Given the description of an element on the screen output the (x, y) to click on. 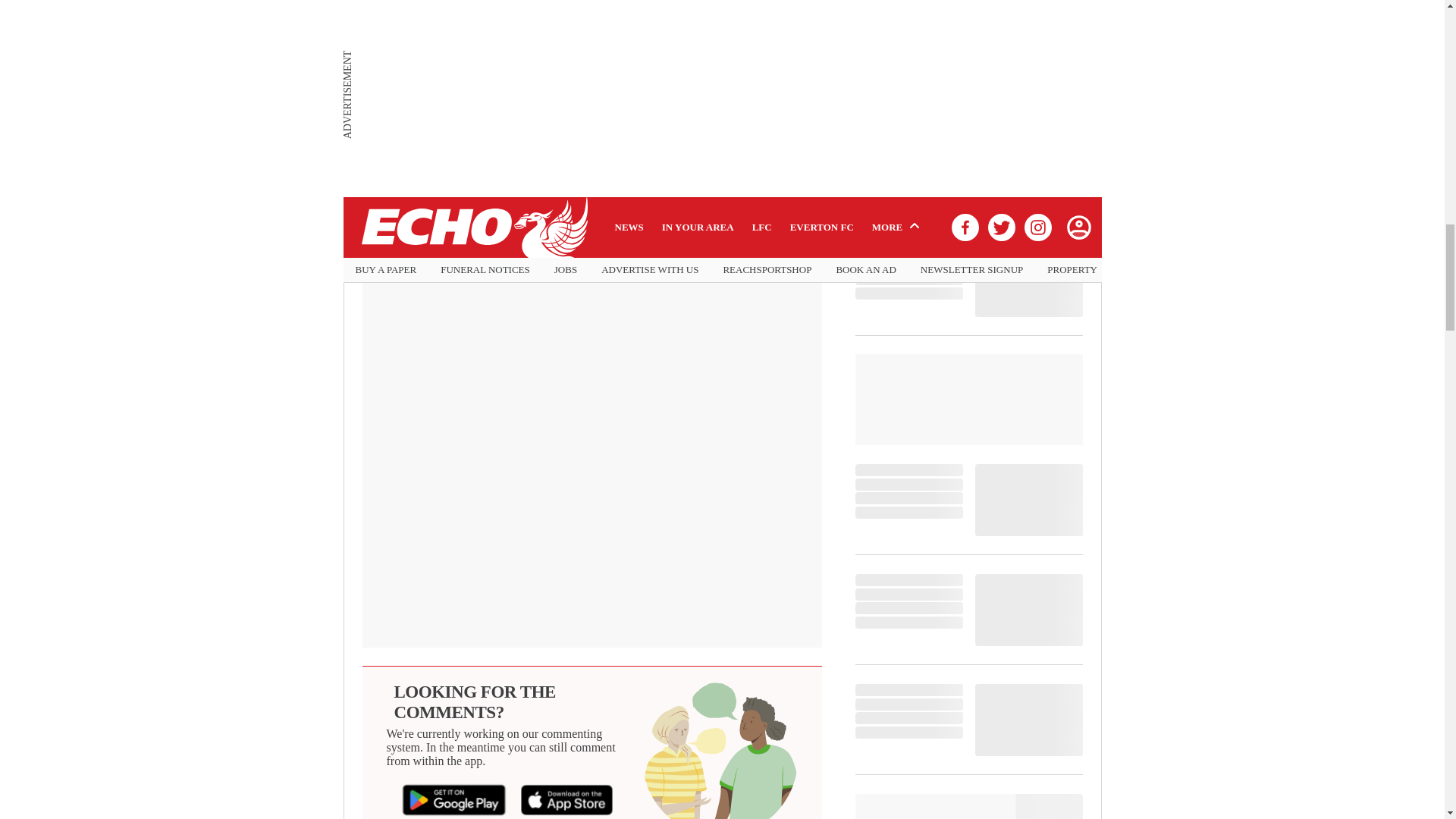
Twitter (533, 235)
More info (721, 21)
Instagram (646, 235)
Facebook (421, 235)
